Given the description of an element on the screen output the (x, y) to click on. 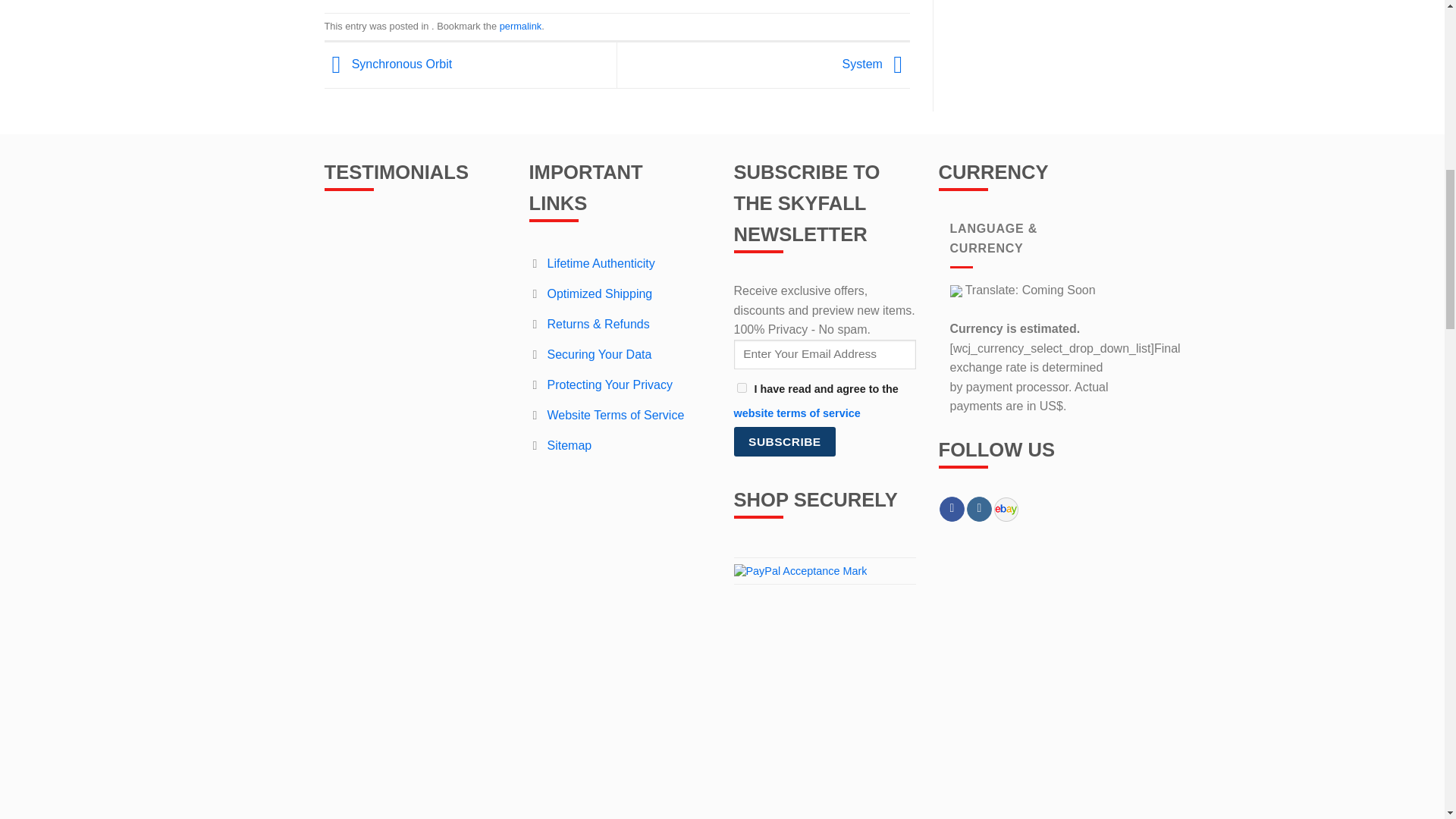
Follow on Facebook (951, 727)
Follow on Ebay (1000, 727)
1 (741, 606)
Subscribe (784, 659)
Permalink to Synchrotron Emission (520, 244)
Share on Facebook (603, 190)
Email to a Friend (630, 190)
How PayPal Works (800, 788)
Follow on Instagram (978, 727)
